Given the description of an element on the screen output the (x, y) to click on. 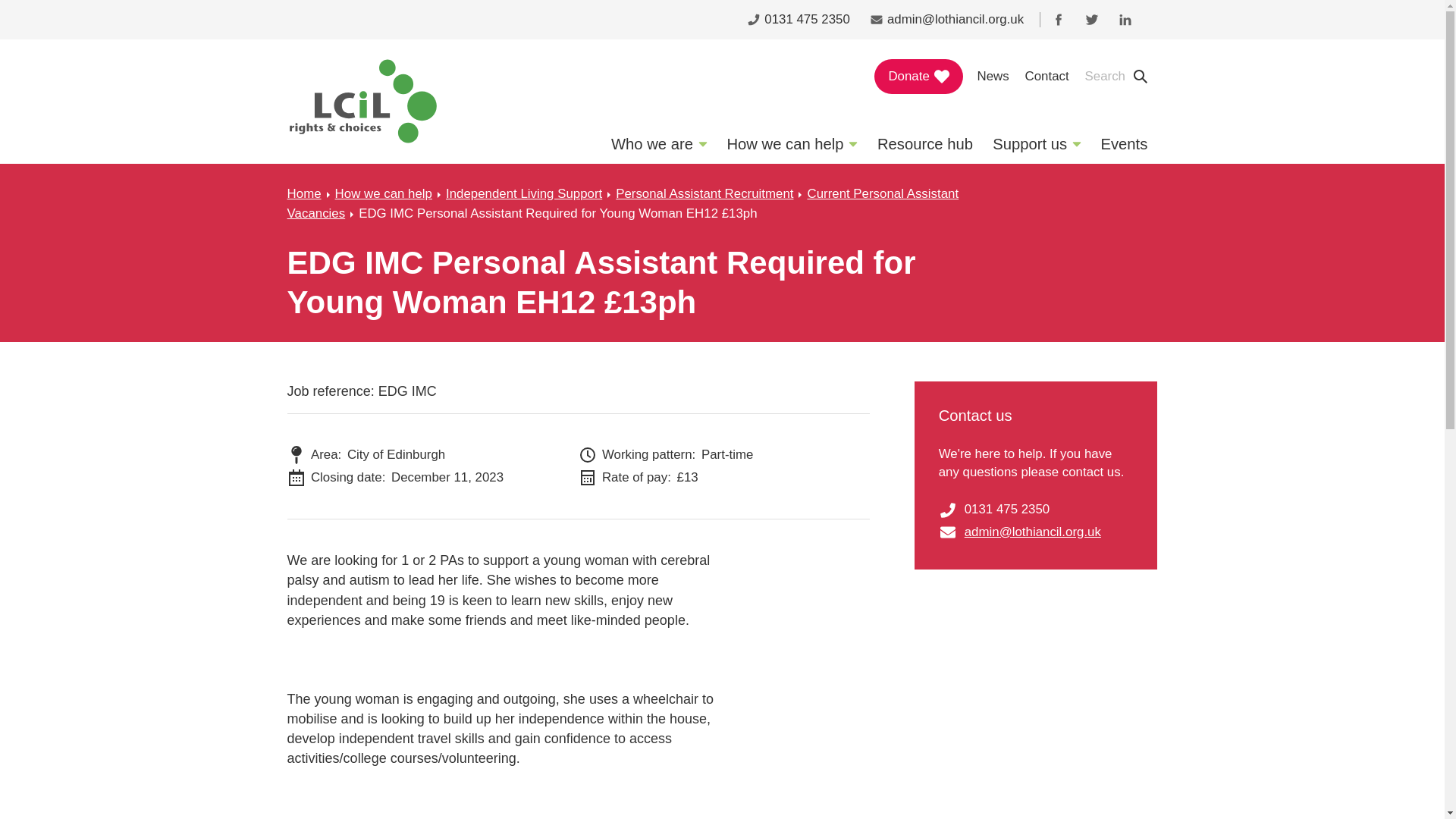
Support us (1036, 143)
Who we are (658, 143)
Resource hub (924, 143)
How we can help (791, 143)
Search (1117, 76)
Follow us on Twitter (1091, 19)
Contact (1046, 76)
Find us on LinkedIn (1124, 19)
0131 475 2350 (798, 19)
